Given the description of an element on the screen output the (x, y) to click on. 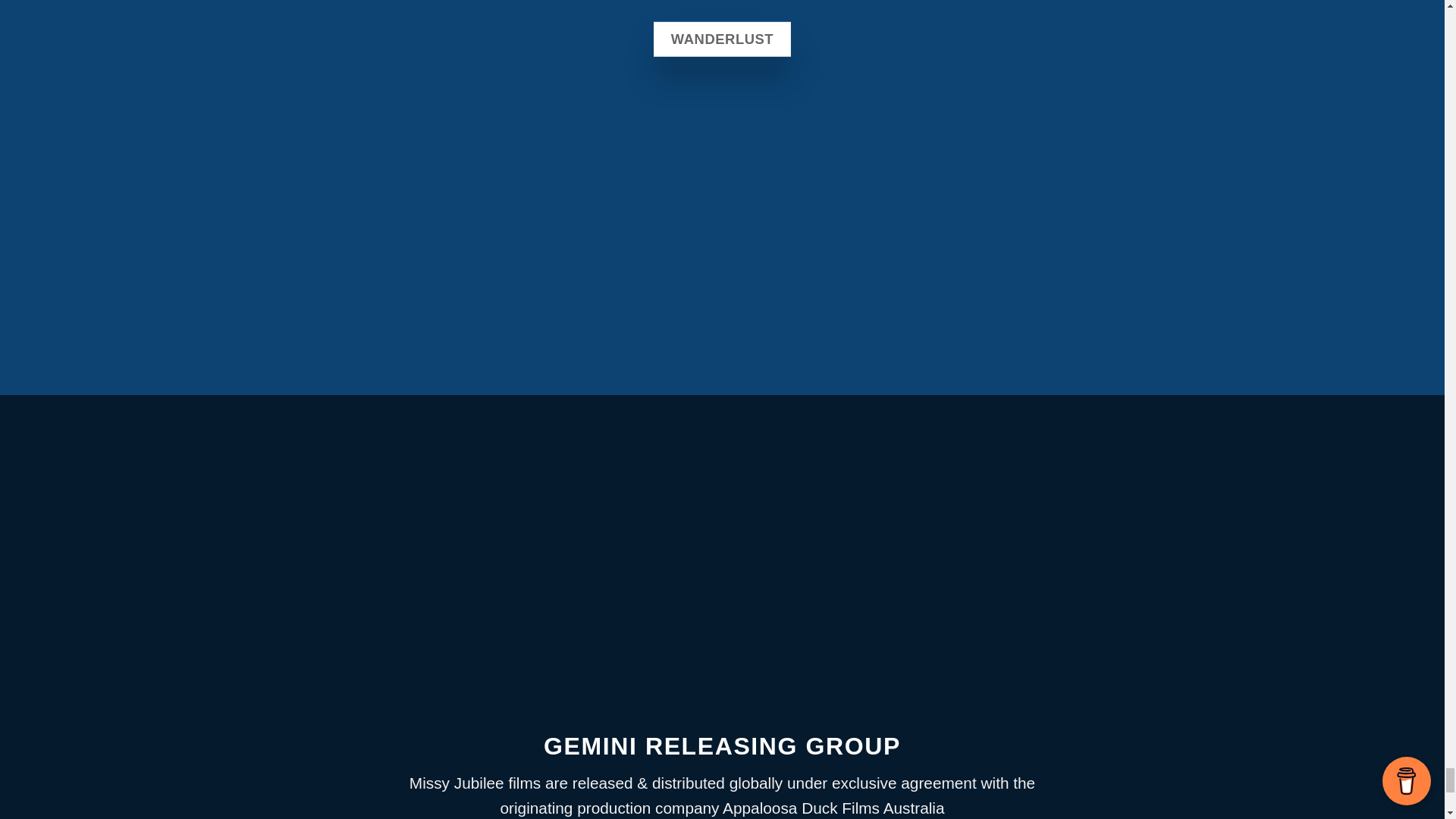
Missy Jubilee films (474, 782)
WANDERLUST (721, 38)
